Given the description of an element on the screen output the (x, y) to click on. 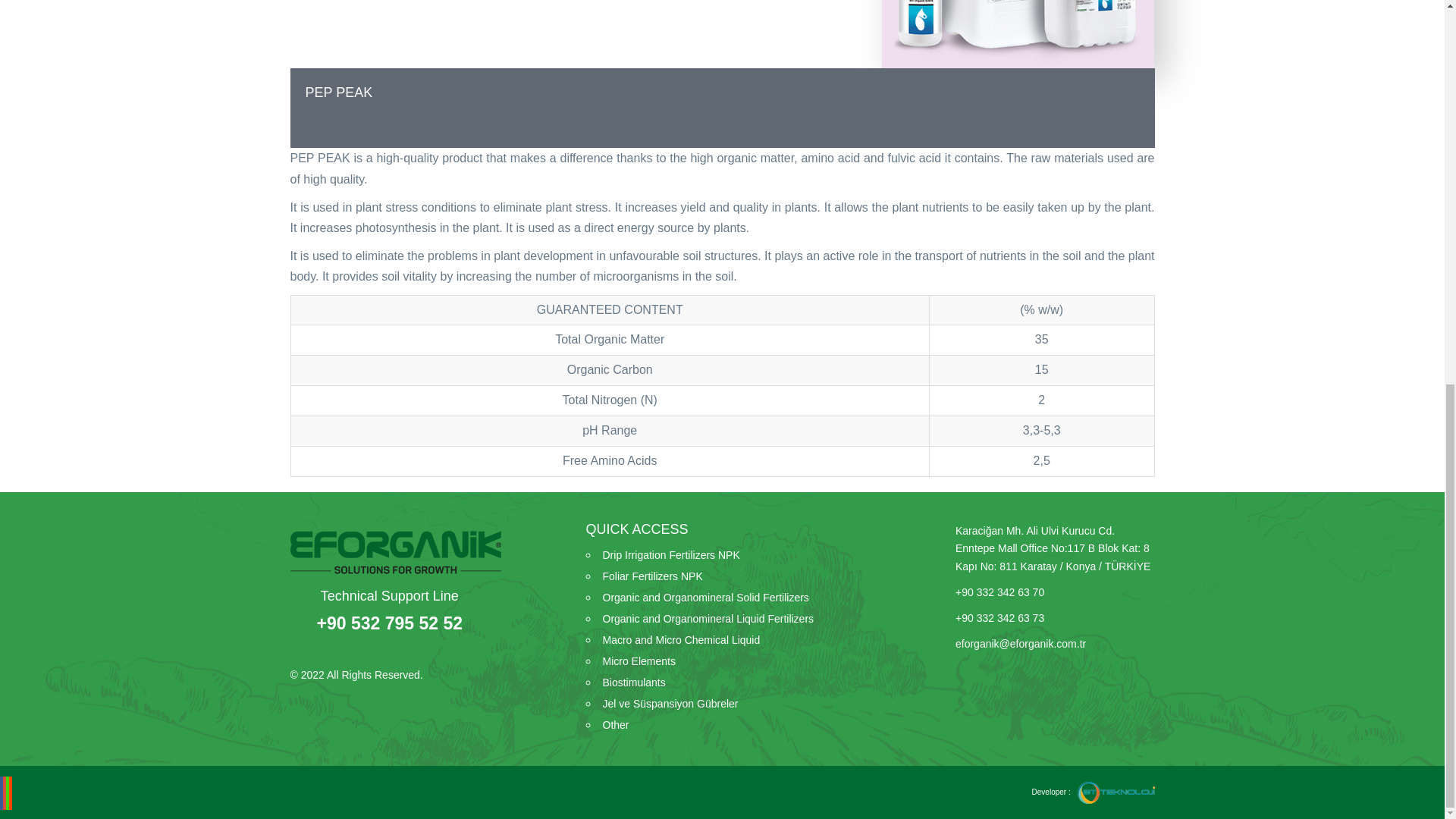
PEP PEAK (721, 92)
